Given the description of an element on the screen output the (x, y) to click on. 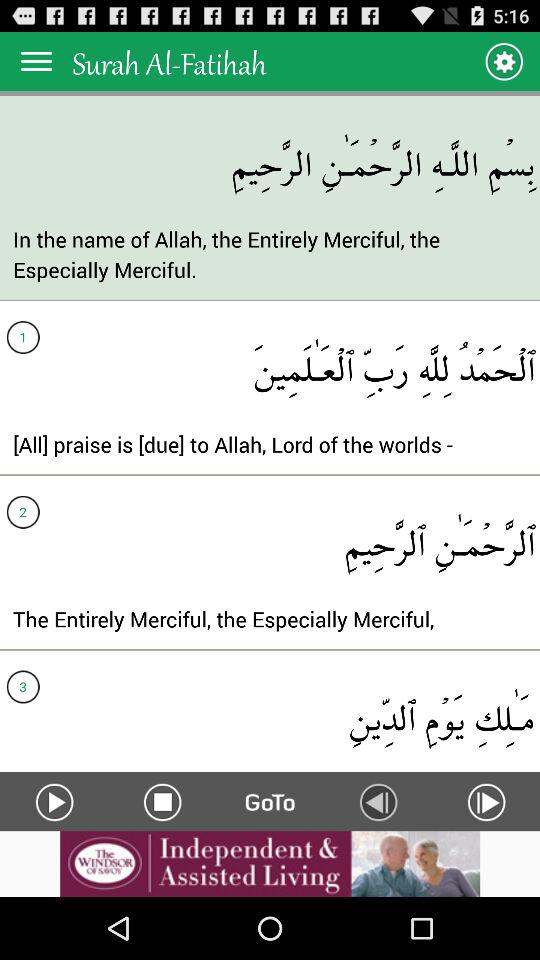
choose the settings (503, 60)
